Given the description of an element on the screen output the (x, y) to click on. 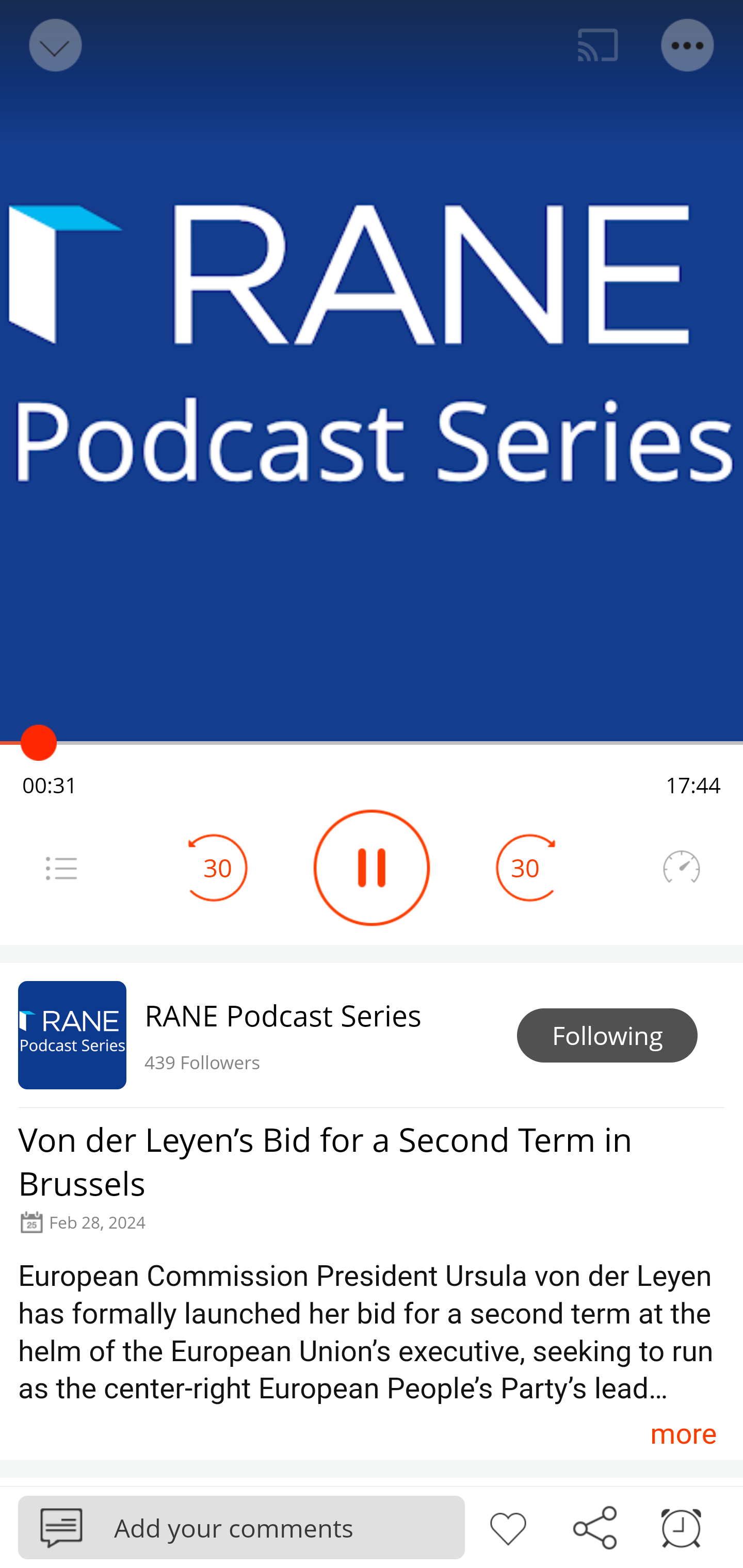
Back (53, 45)
Cast. Disconnected (597, 45)
Menu (688, 45)
Play (371, 867)
30 Seek Backward (217, 867)
30 Seek Forward (525, 867)
Menu (60, 867)
Speedometer (681, 867)
RANE Podcast Series 439 Followers Following (371, 1034)
Following (607, 1035)
more (682, 1432)
Like (508, 1526)
Share (594, 1526)
Sleep timer (681, 1526)
Podbean Add your comments (241, 1526)
